Given the description of an element on the screen output the (x, y) to click on. 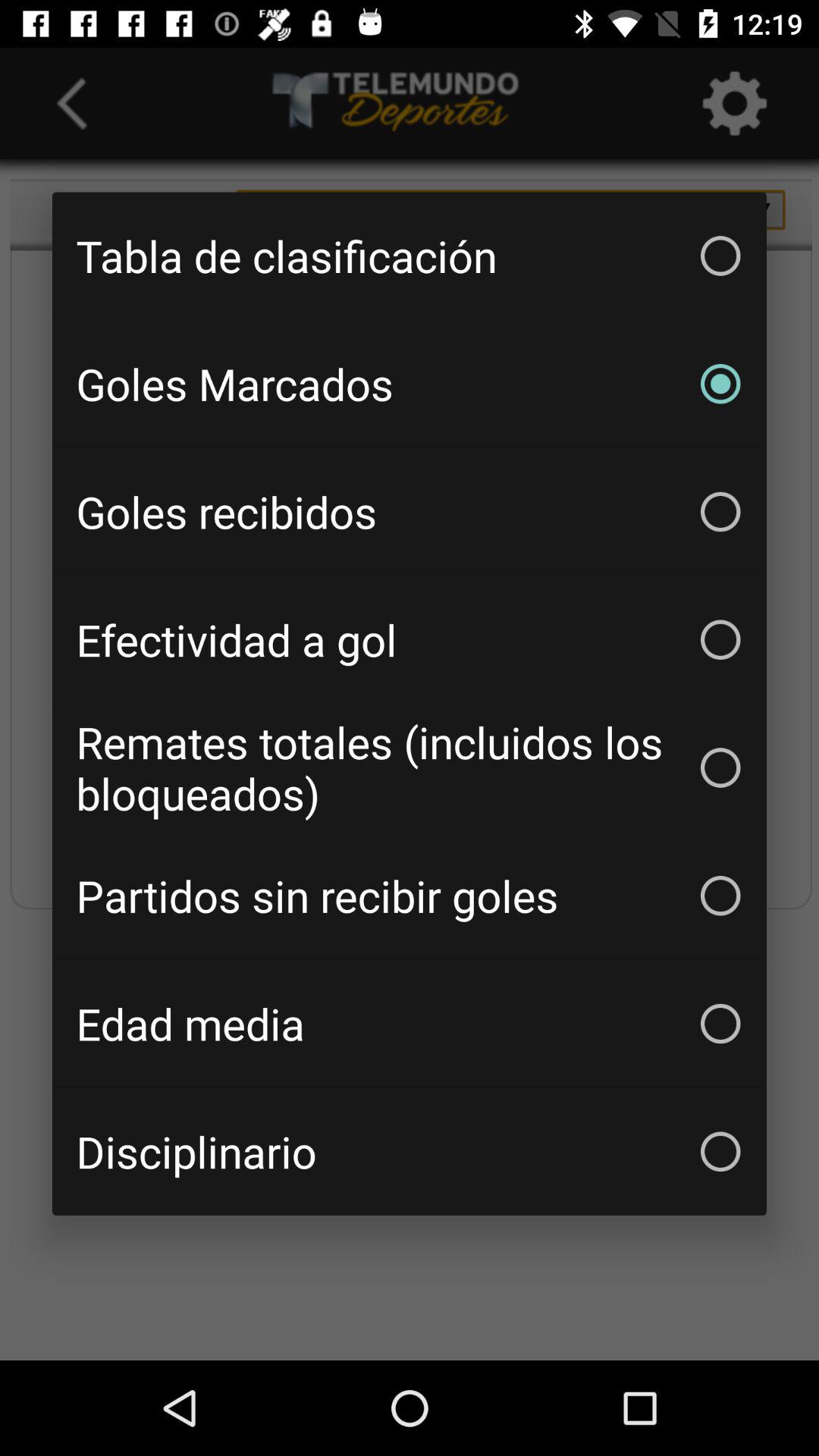
flip until edad media (409, 1023)
